Given the description of an element on the screen output the (x, y) to click on. 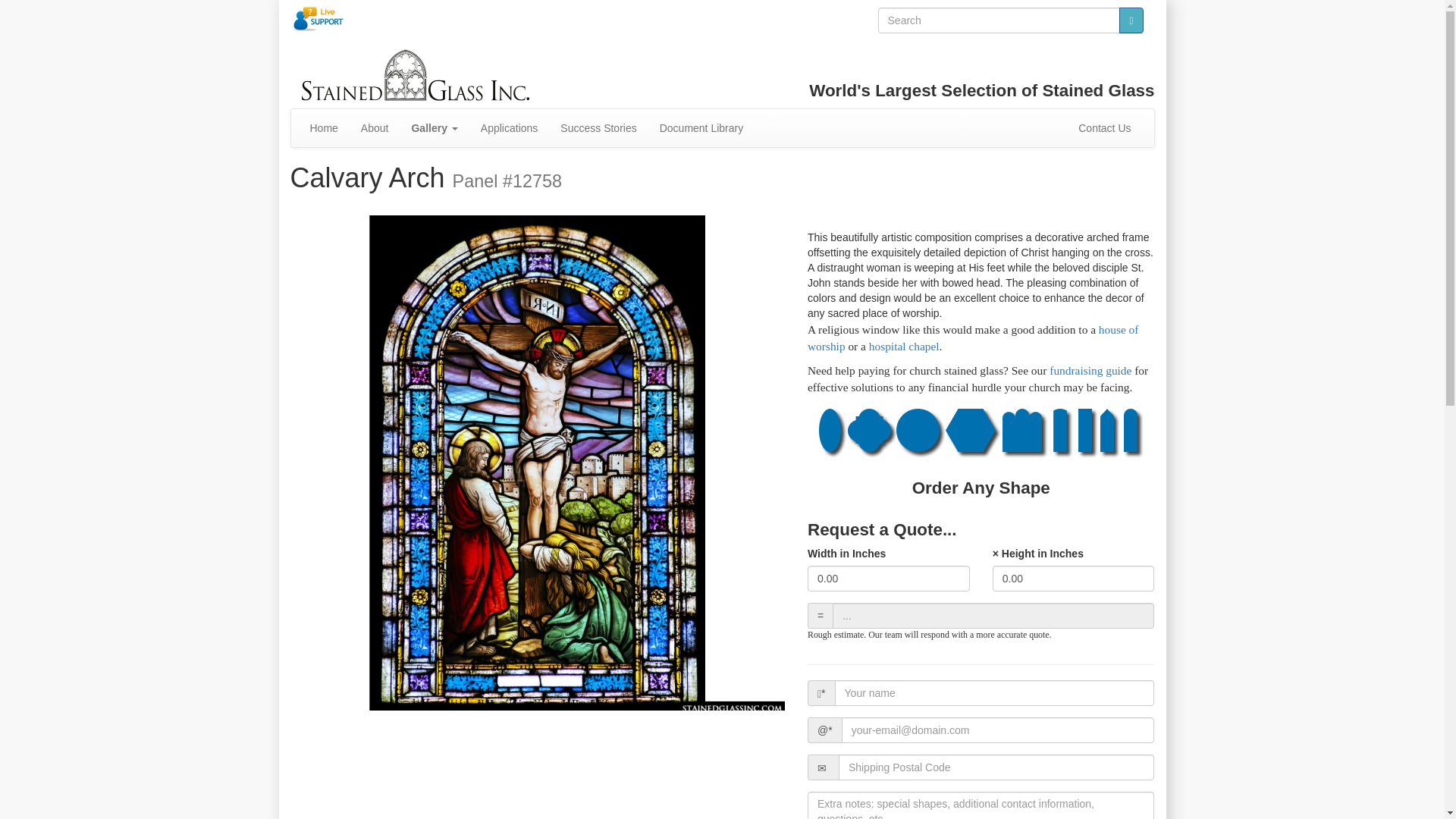
Applications (509, 127)
fundraising guide (1090, 369)
house of worship (973, 337)
Document Library (701, 127)
0.00 (1073, 578)
About (374, 127)
hospital chapel (904, 345)
Success Stories (597, 127)
Gallery (433, 127)
Contact Us (1104, 127)
0.00 (888, 578)
Home (323, 127)
